Given the description of an element on the screen output the (x, y) to click on. 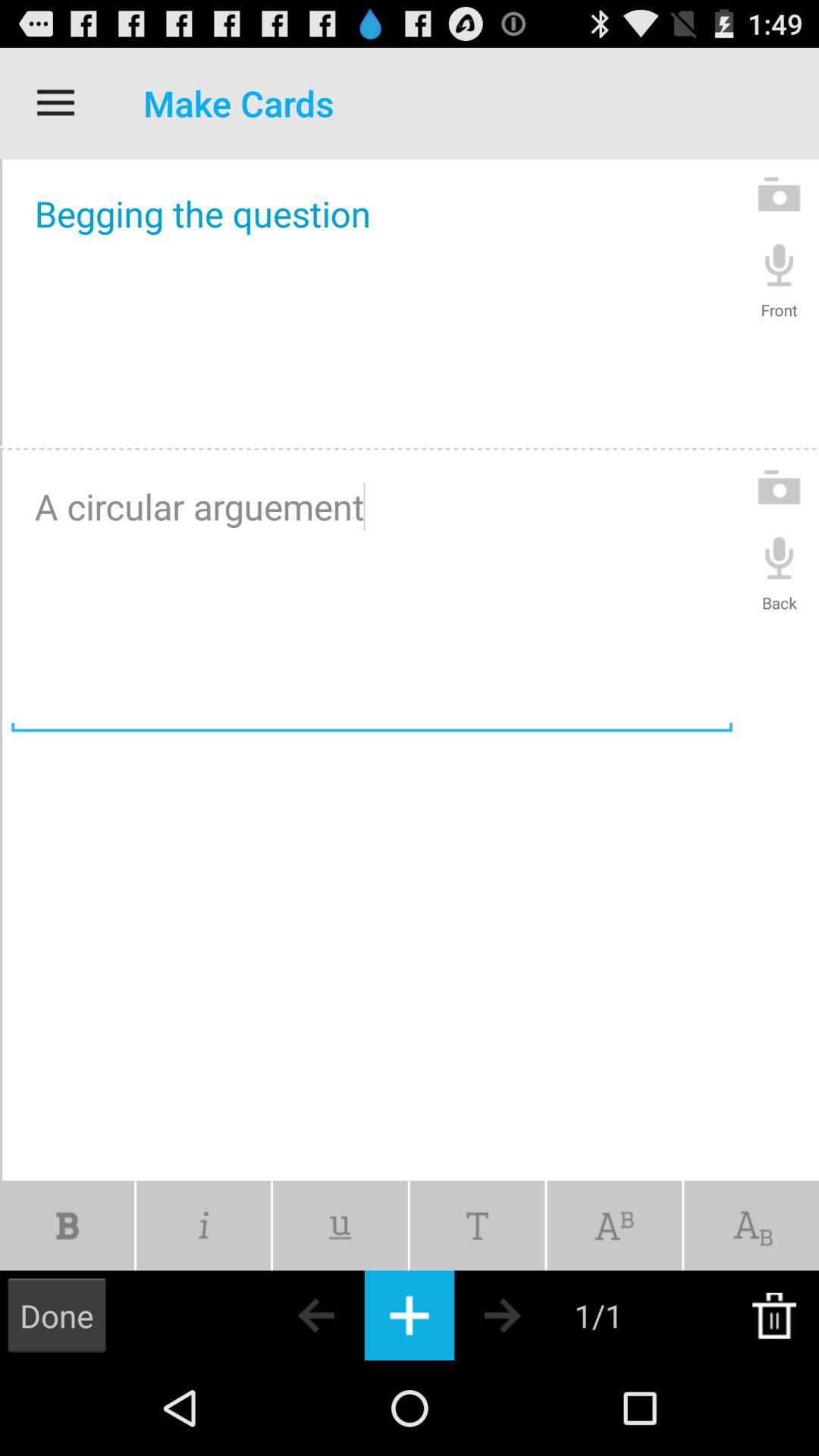
press the icon next to the make cards item (55, 103)
